Given the description of an element on the screen output the (x, y) to click on. 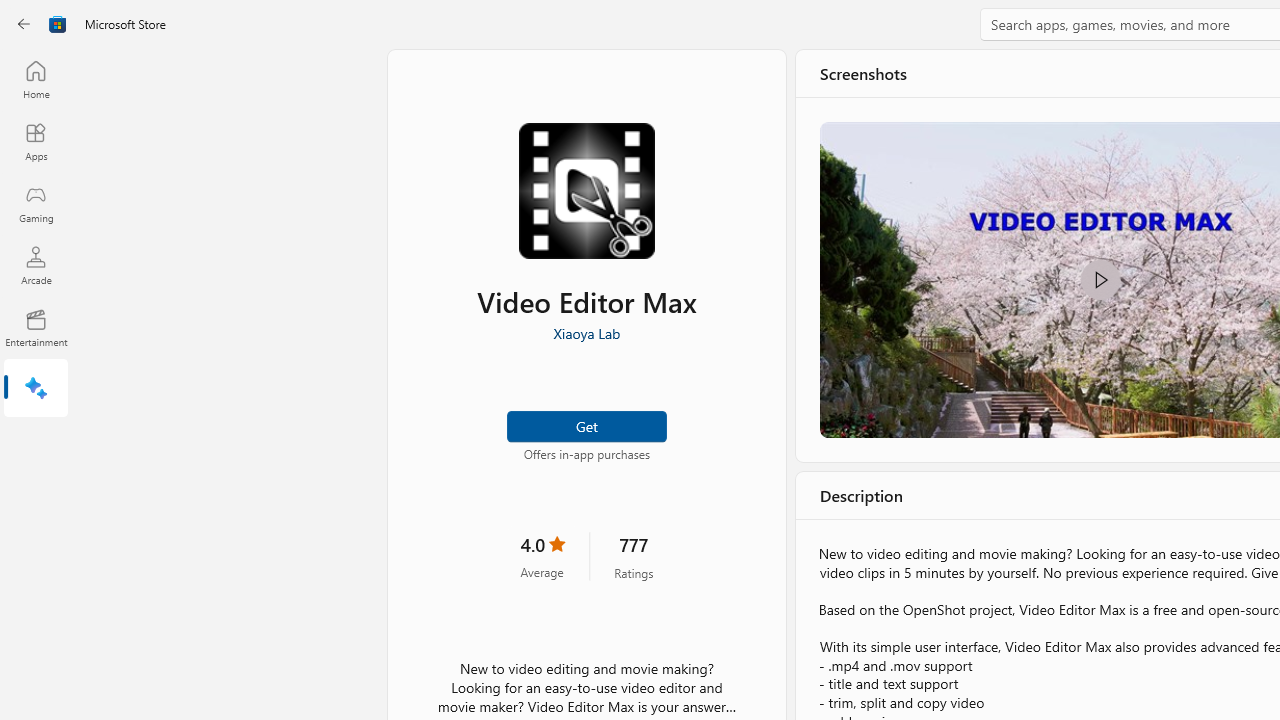
Class: Image (58, 24)
Entertainment (35, 327)
Back (24, 24)
Gaming (35, 203)
Apps (35, 141)
Xiaoya Lab (585, 333)
Arcade (35, 265)
Get (586, 424)
Home (35, 79)
4.0 stars. Click to skip to ratings and reviews (542, 556)
AI Hub (35, 390)
